Given the description of an element on the screen output the (x, y) to click on. 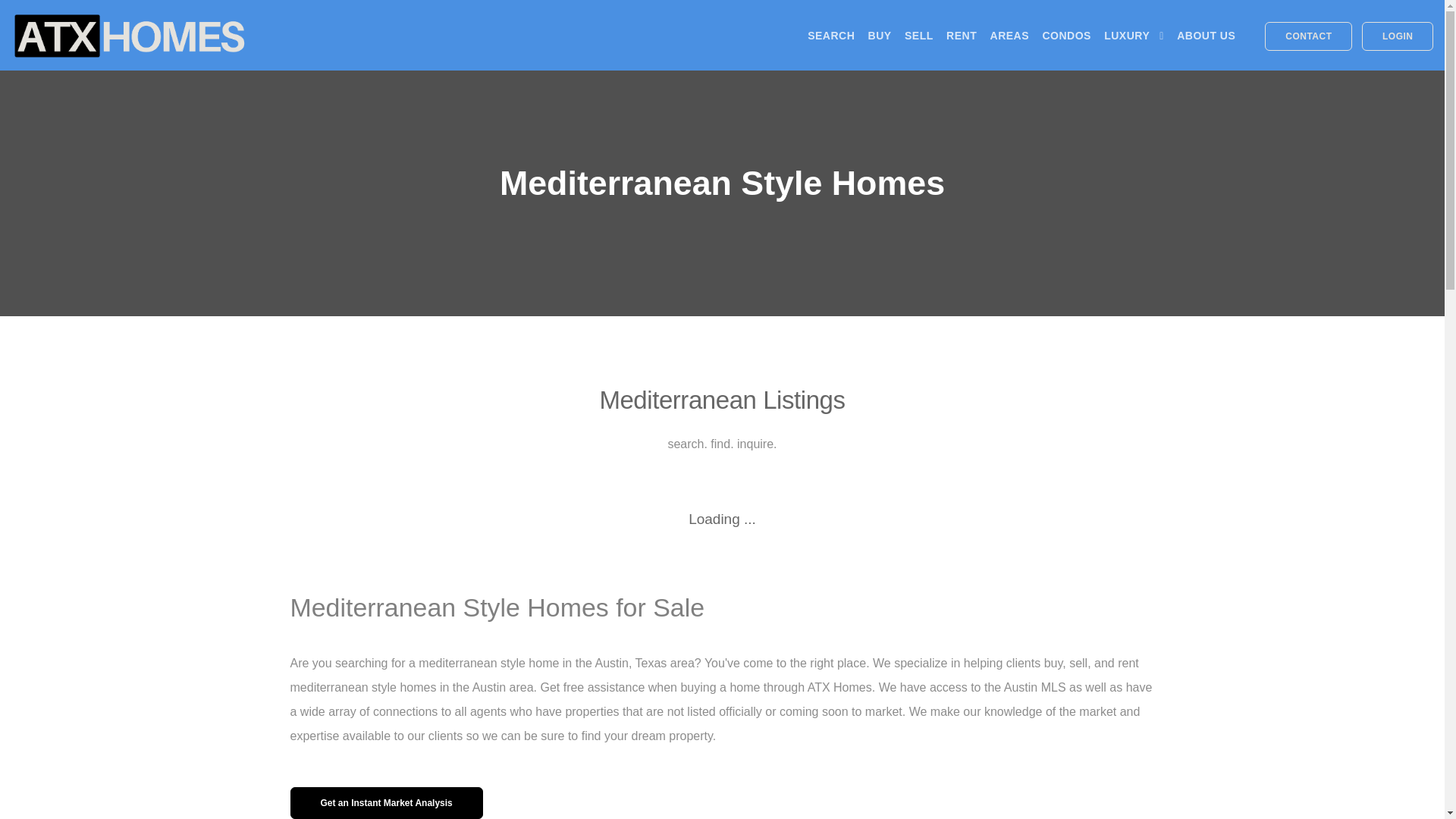
CONTACT (1308, 36)
AREAS (1009, 35)
CONDOS (1066, 35)
RENT (961, 35)
LUXURY (1133, 35)
SEARCH (831, 35)
SELL (918, 35)
Get an Instant Market Analysis (385, 803)
ABOUT US (1205, 35)
BUY (879, 35)
LOGIN (1396, 36)
